Given the description of an element on the screen output the (x, y) to click on. 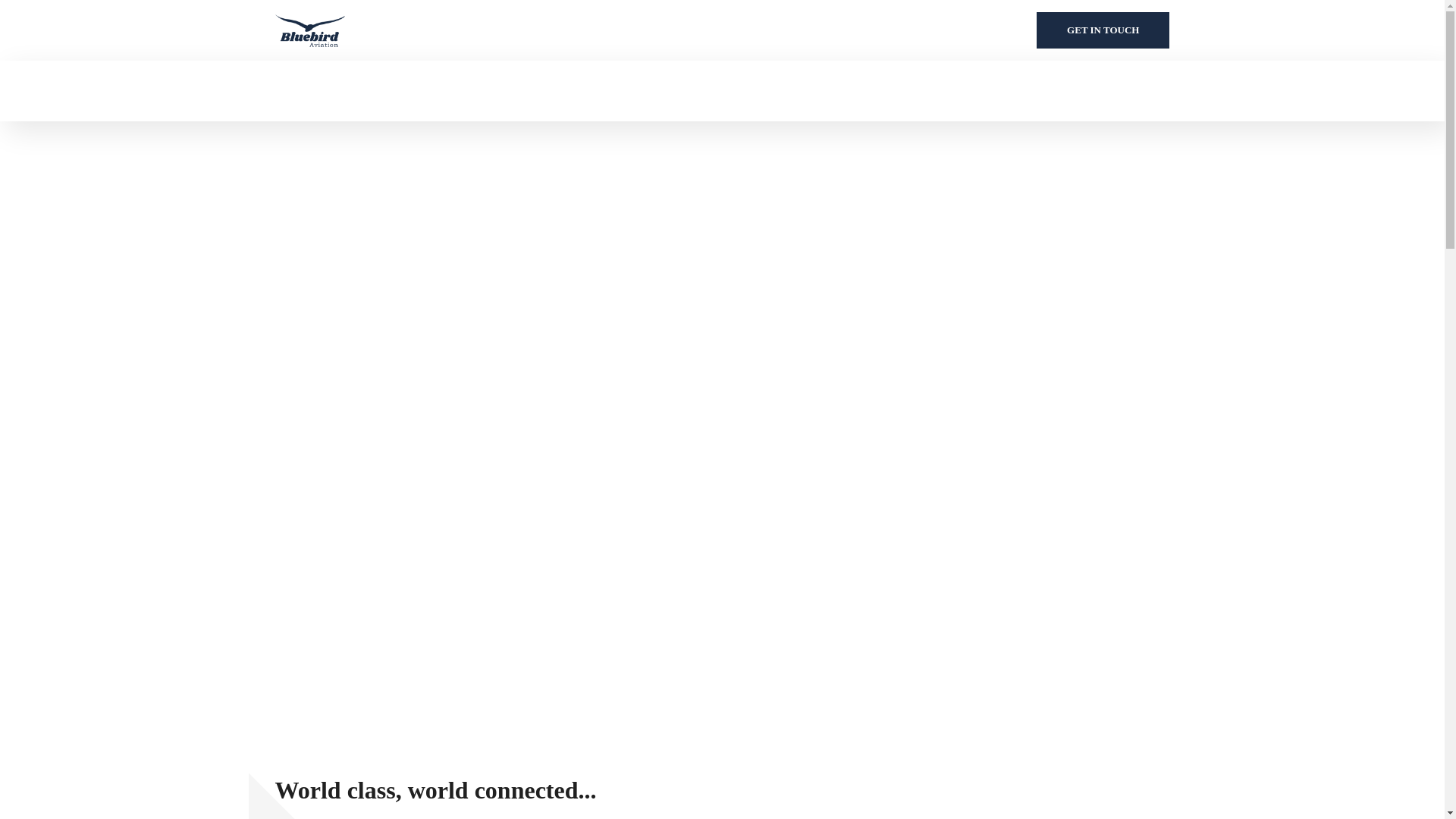
About us (294, 90)
GET IN TOUCH (1102, 30)
Contact us (379, 90)
Search (1138, 171)
Search (1138, 49)
